Given the description of an element on the screen output the (x, y) to click on. 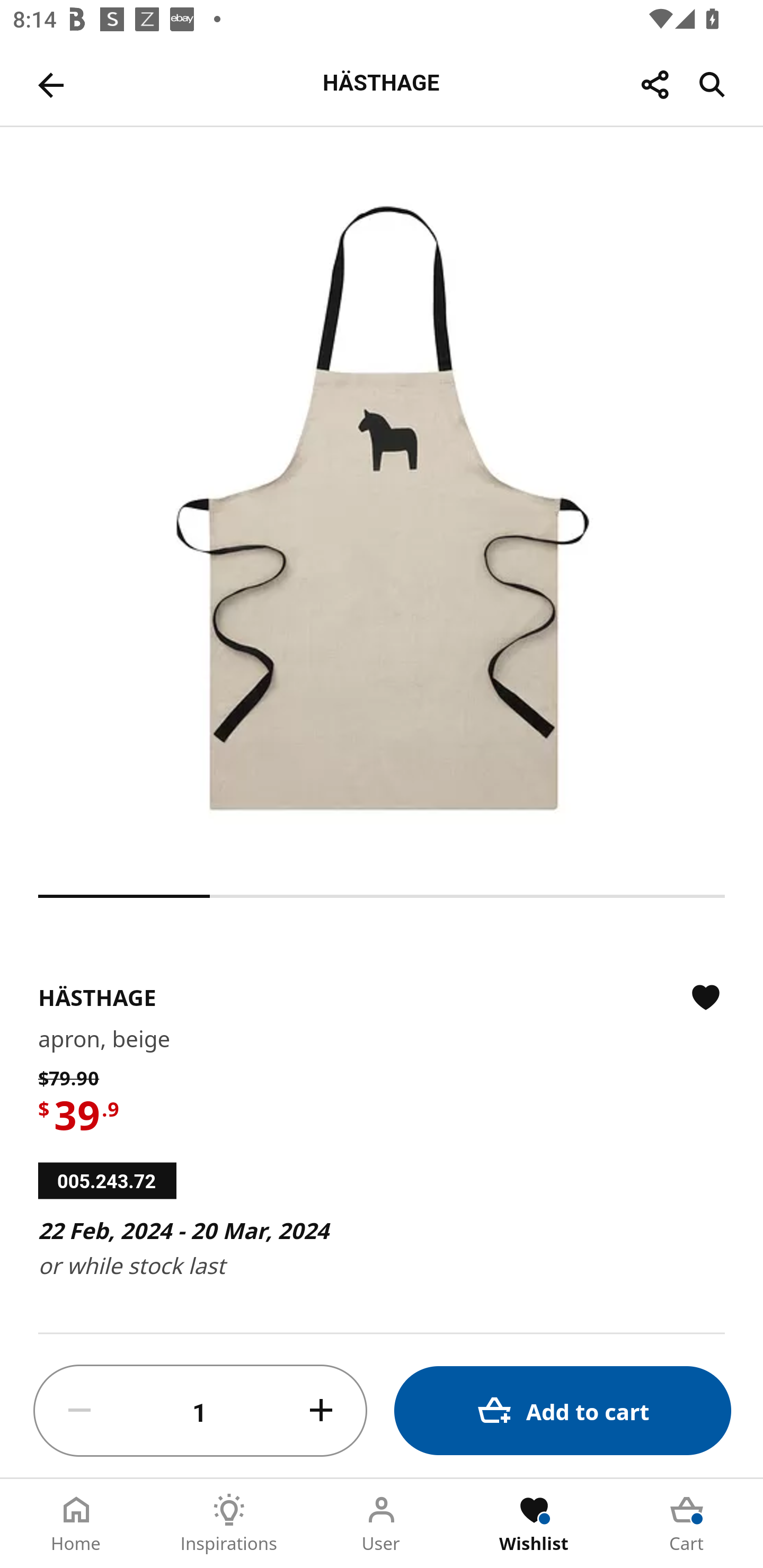
Add to cart (562, 1410)
1 (200, 1411)
Home
Tab 1 of 5 (76, 1522)
Inspirations
Tab 2 of 5 (228, 1522)
User
Tab 3 of 5 (381, 1522)
Wishlist
Tab 4 of 5 (533, 1522)
Cart
Tab 5 of 5 (686, 1522)
